Given the description of an element on the screen output the (x, y) to click on. 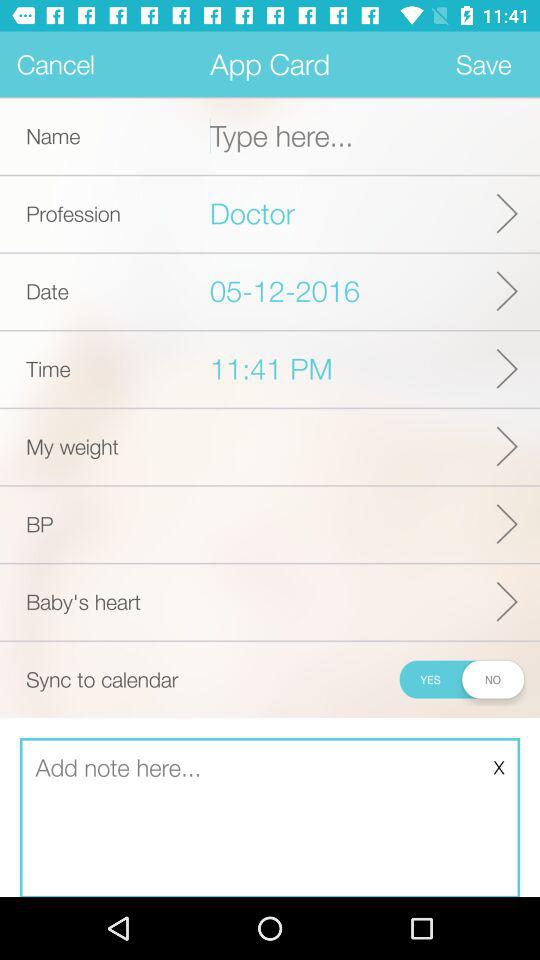
tap item next to app card app (55, 63)
